Given the description of an element on the screen output the (x, y) to click on. 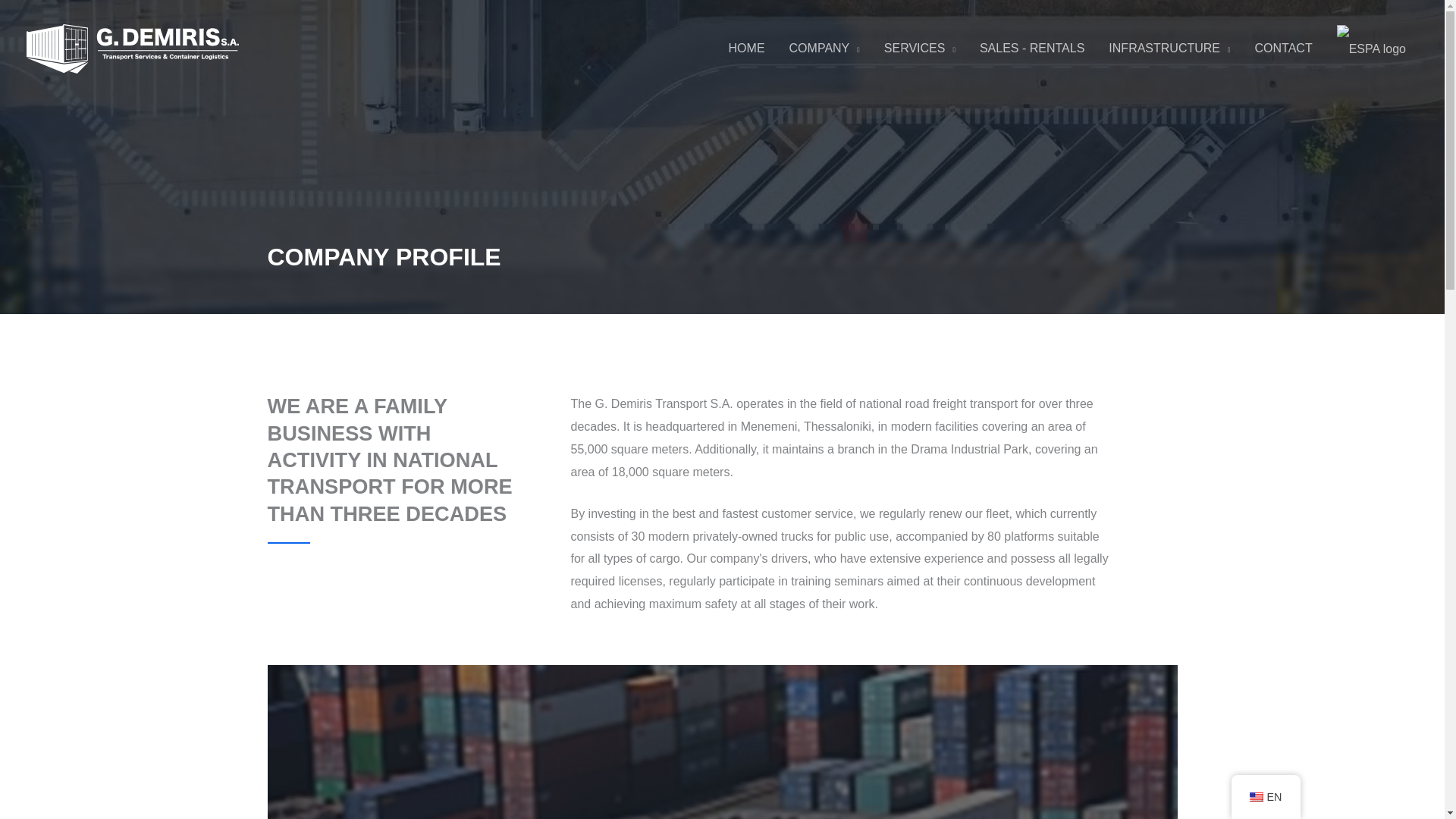
SERVICES (920, 48)
INFRASTRUCTURE (1168, 48)
English (1256, 796)
HOME (746, 48)
CONTACT (1283, 48)
SALES - RENTALS (1032, 48)
EN (1265, 796)
COMPANY (824, 48)
